Given the description of an element on the screen output the (x, y) to click on. 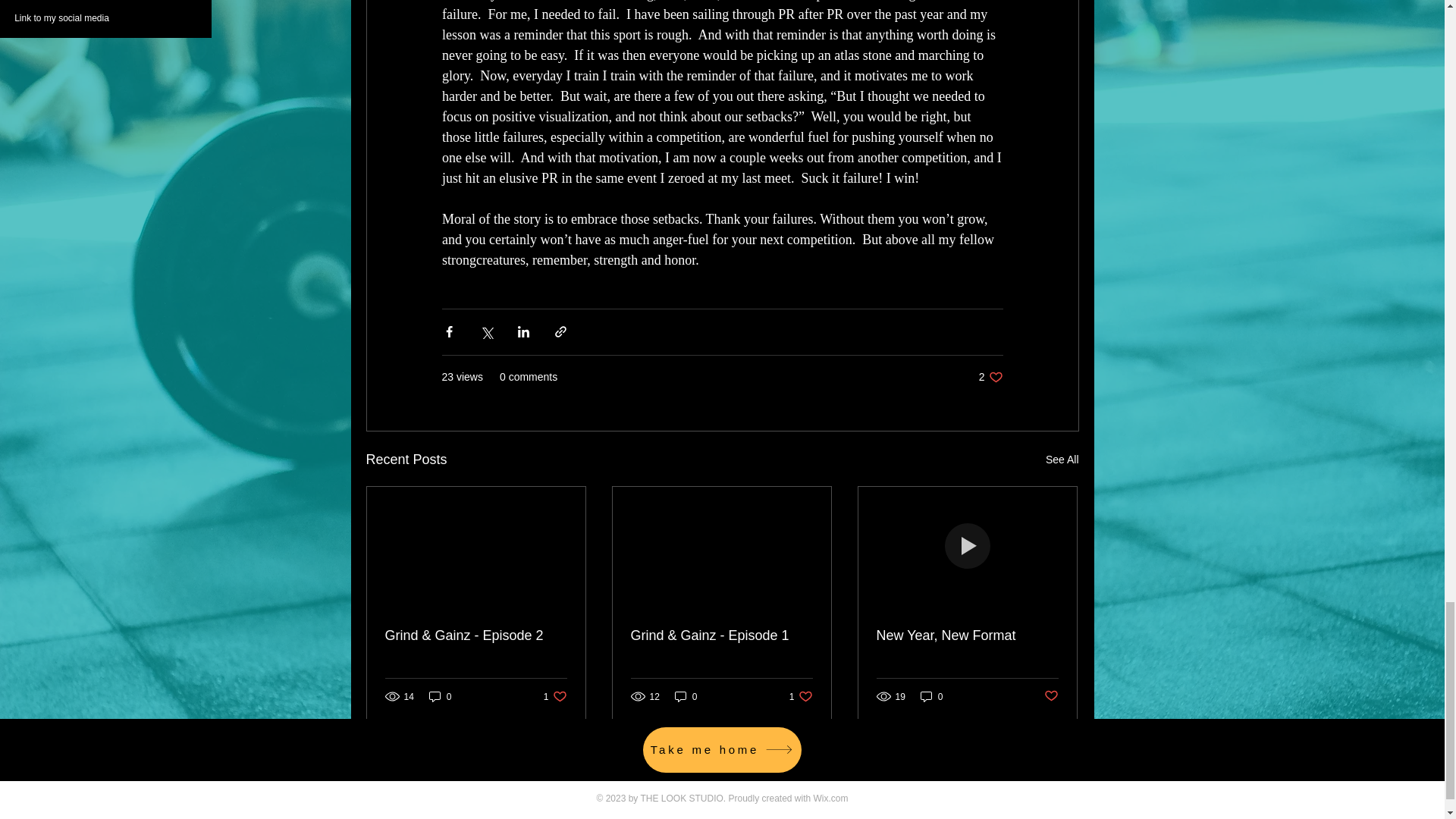
New Year, New Format (967, 635)
Post not marked as liked (1050, 696)
See All (800, 696)
0 (1061, 459)
0 (685, 696)
0 (990, 377)
